Given the description of an element on the screen output the (x, y) to click on. 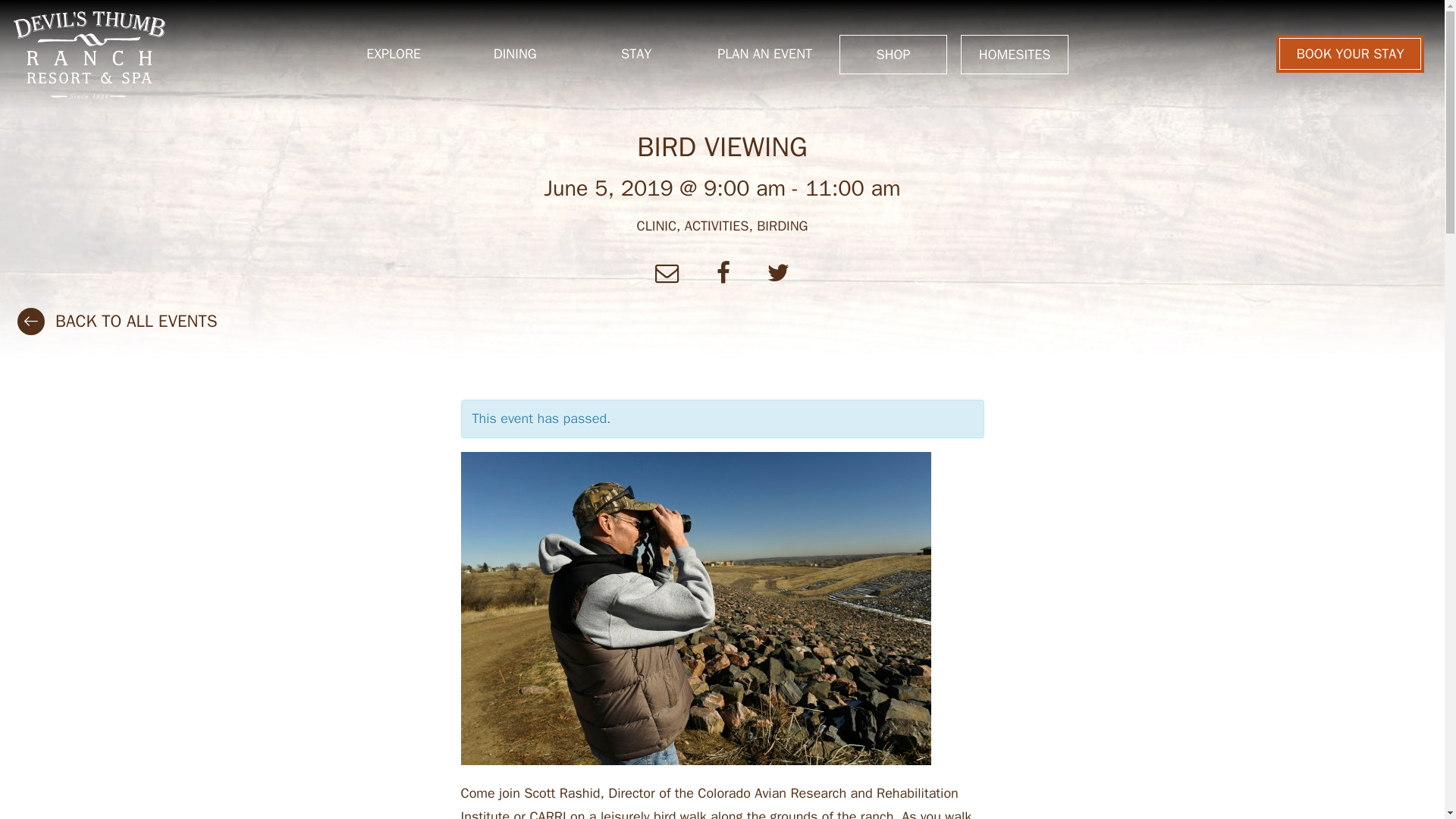
HOMESITES (1014, 54)
SHOP (893, 54)
BOOK YOUR STAY (1349, 53)
STAY (636, 53)
BACK TO ALL EVENTS (136, 321)
Share on Twitter (778, 273)
EXPLORE (392, 53)
DINING (515, 53)
PLAN AN EVENT (764, 53)
Share on Facebook (726, 273)
